Given the description of an element on the screen output the (x, y) to click on. 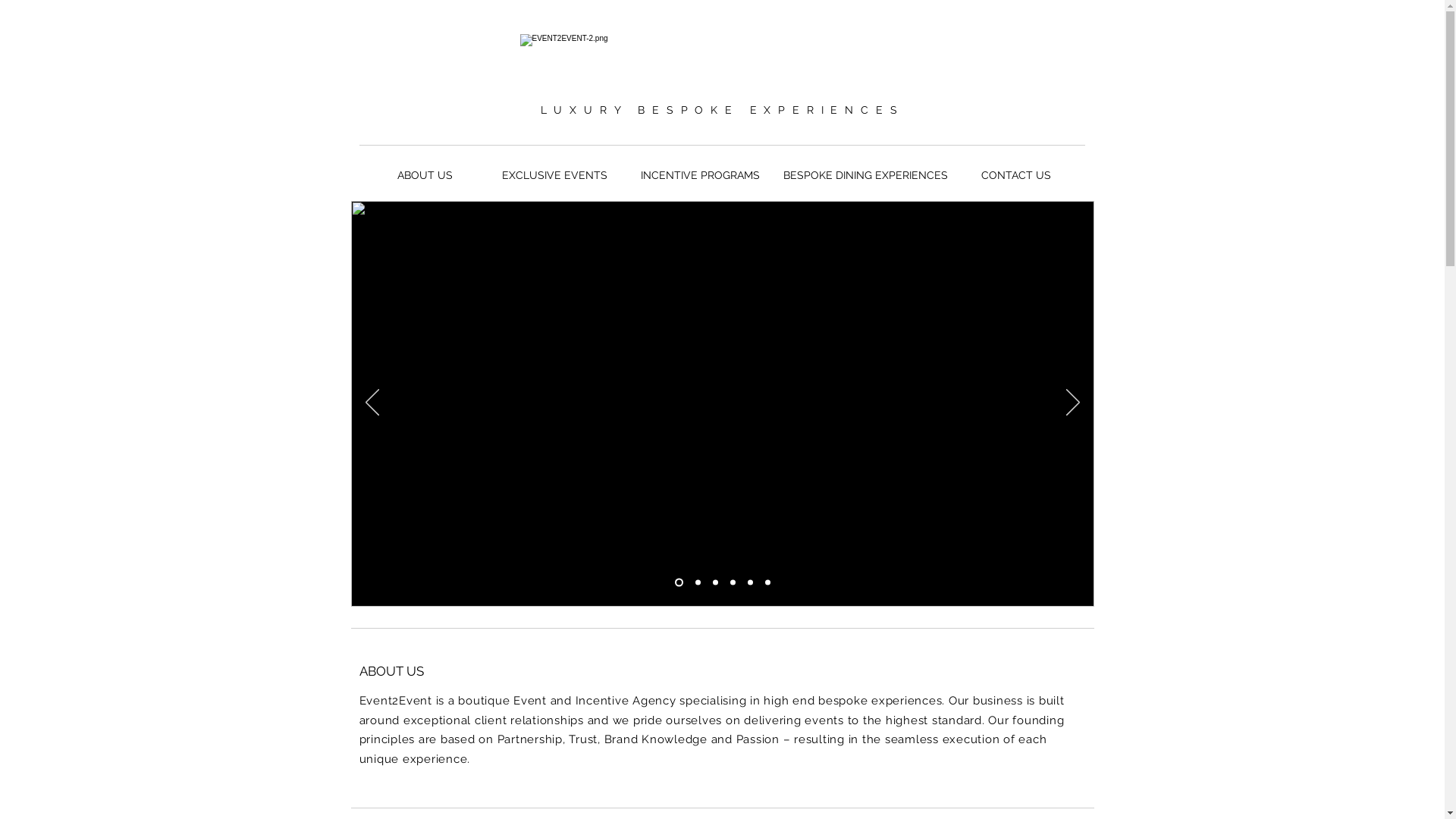
CONTACT US Element type: text (1015, 175)
INCENTIVE PROGRAMS Element type: text (699, 175)
LUXURY BESPOKE EXPERIENCES Element type: text (722, 109)
BESPOKE DINING EXPERIENCES Element type: text (864, 175)
ABOUT US Element type: text (423, 175)
EXCLUSIVE EVENTS Element type: text (553, 175)
